Given the description of an element on the screen output the (x, y) to click on. 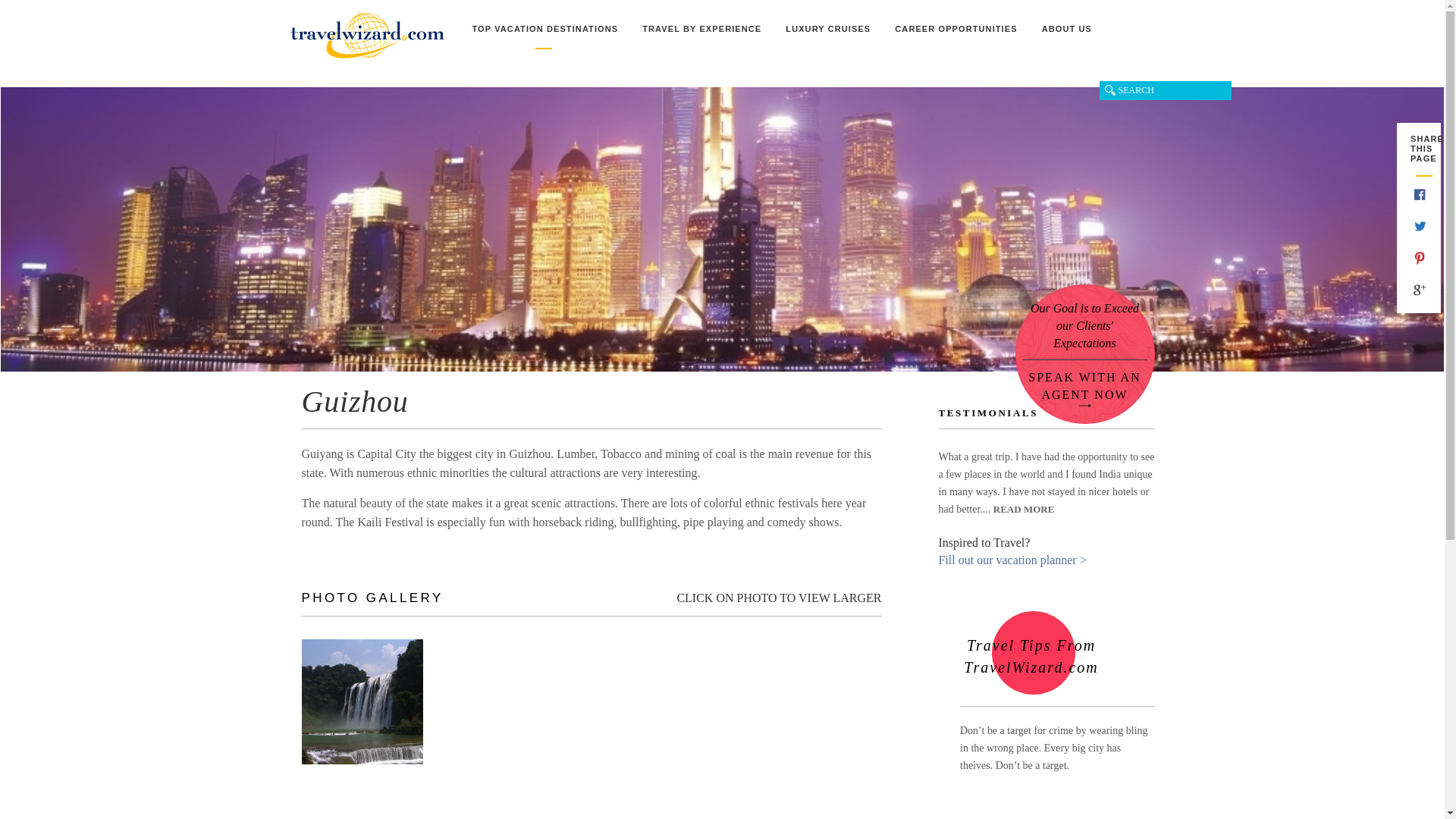
READ MORE (1023, 509)
CAREER OPPORTUNITIES (955, 36)
LUXURY CRUISES (827, 36)
TOP VACATION DESTINATIONS (545, 36)
Share on Twitter (1419, 228)
ABOUT US (1066, 36)
Travel Wizard (366, 34)
TRAVEL BY EXPERIENCE (701, 36)
